Given the description of an element on the screen output the (x, y) to click on. 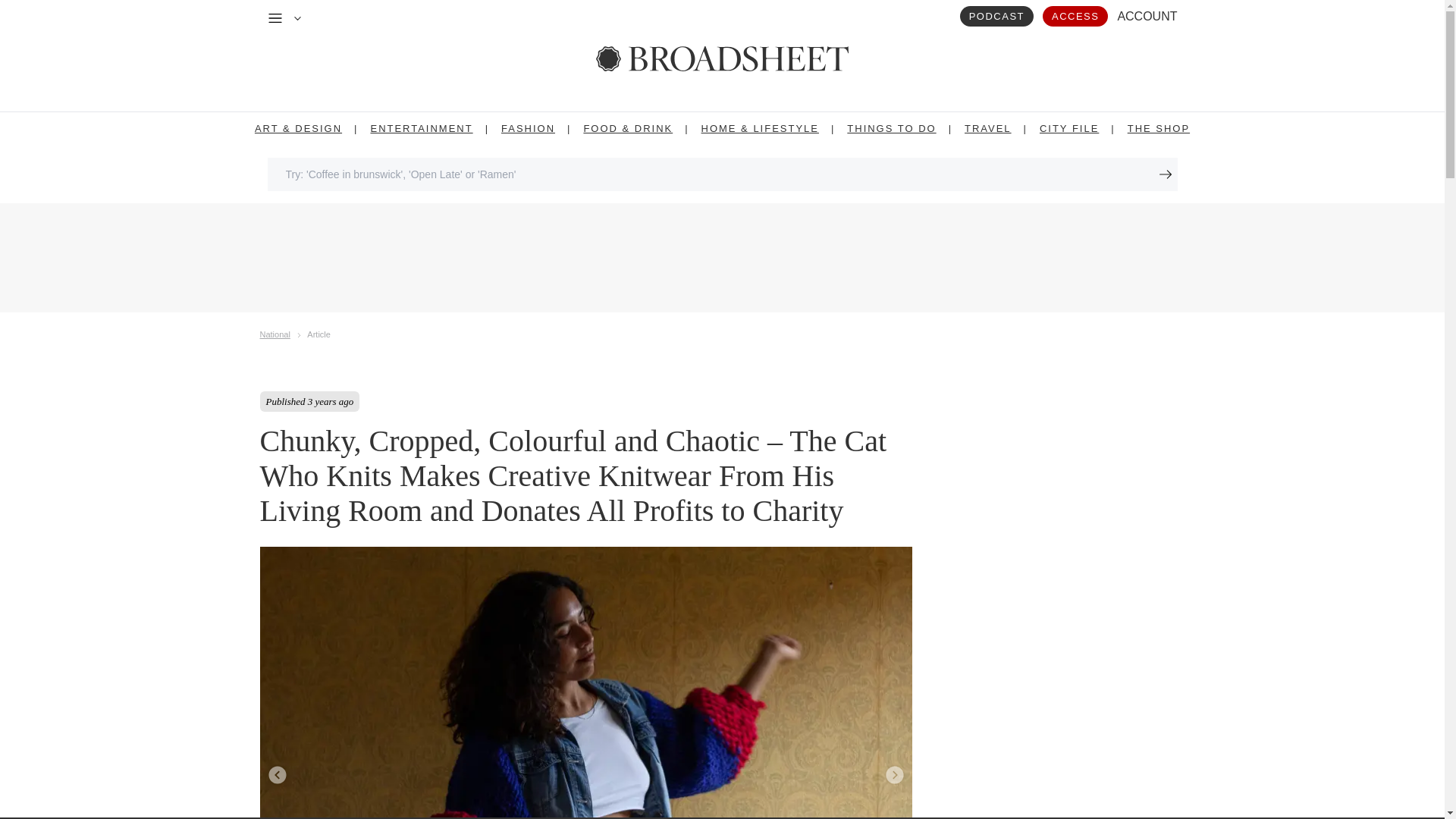
FASHION (527, 128)
National (274, 332)
THINGS TO DO (891, 128)
ENTERTAINMENT (420, 128)
ACCOUNT (1146, 15)
TRAVEL (987, 128)
ACCOUNT (1146, 16)
PODCAST (996, 15)
ACCESS (1075, 15)
CITY FILE (1069, 128)
